Given the description of an element on the screen output the (x, y) to click on. 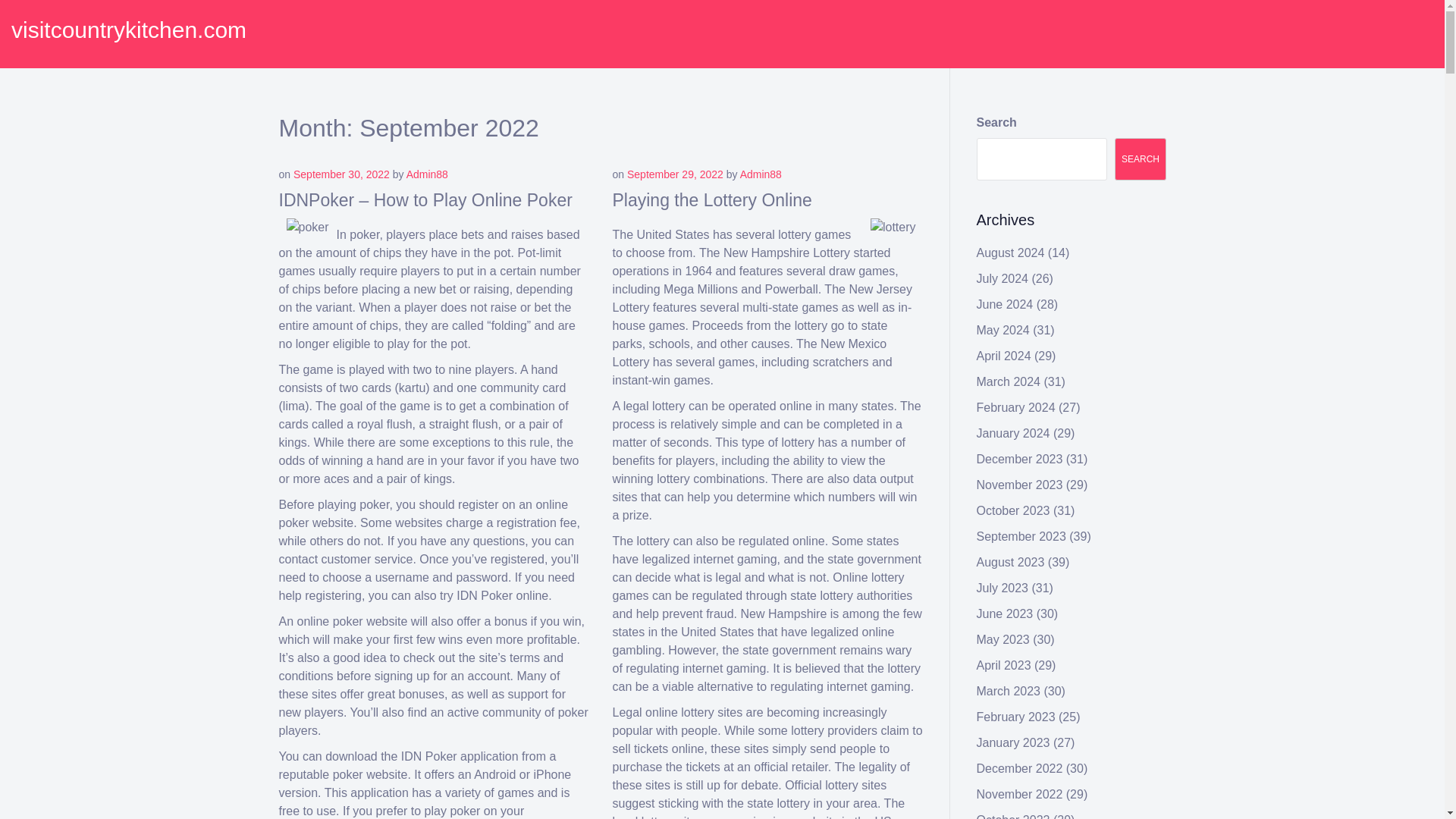
Admin88 (760, 174)
Playing the Lottery Online (712, 199)
visitcountrykitchen.com (128, 29)
September 29, 2022 (675, 174)
September 30, 2022 (342, 174)
Admin88 (427, 174)
